Given the description of an element on the screen output the (x, y) to click on. 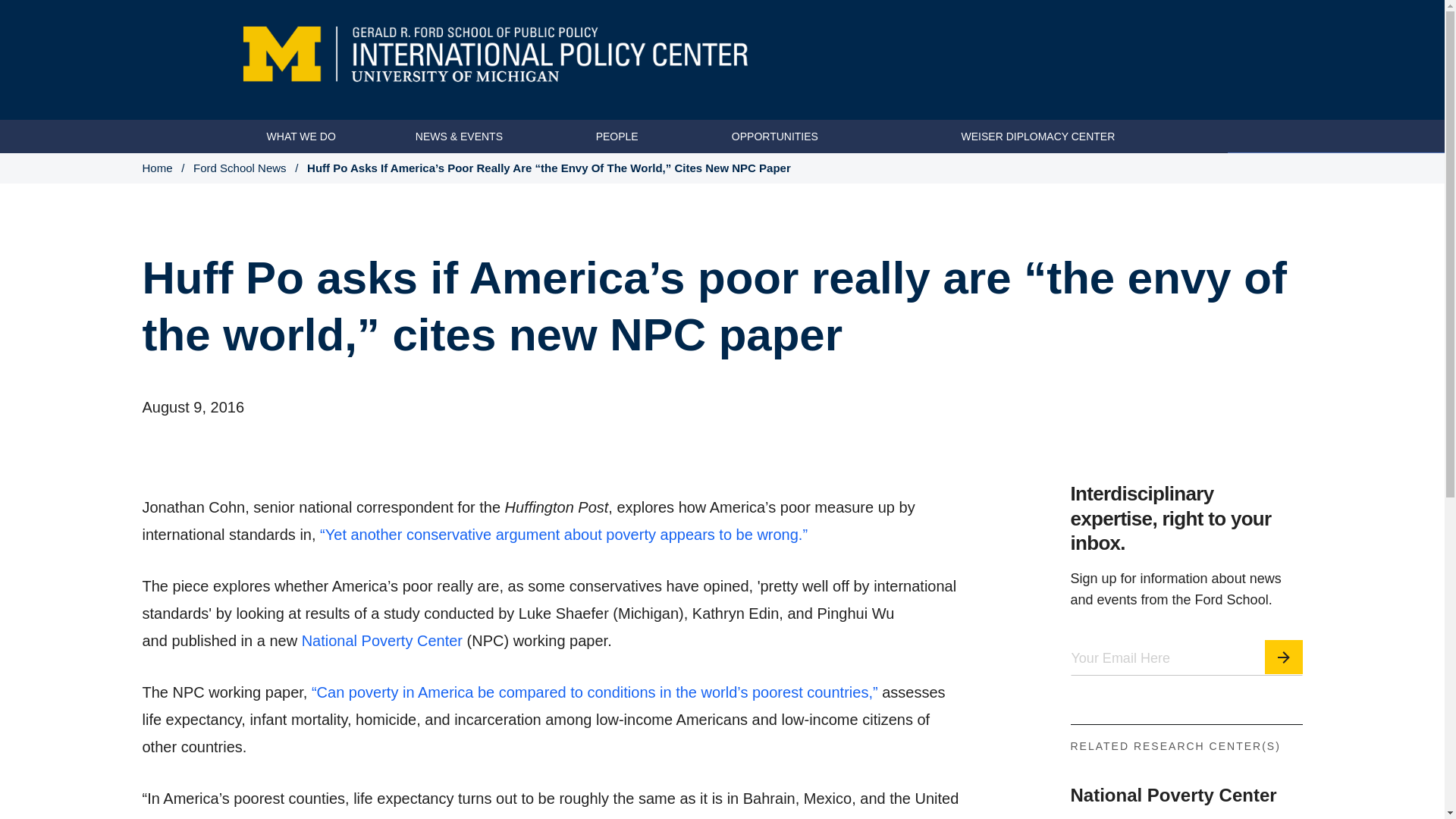
Subscribe (1284, 663)
PEOPLE (617, 136)
WEISER DIPLOMACY CENTER (1037, 136)
Home (157, 167)
WHAT WE DO (301, 136)
Subscribe (1284, 699)
OPPORTUNITIES (775, 136)
Ford School News (239, 167)
